Given the description of an element on the screen output the (x, y) to click on. 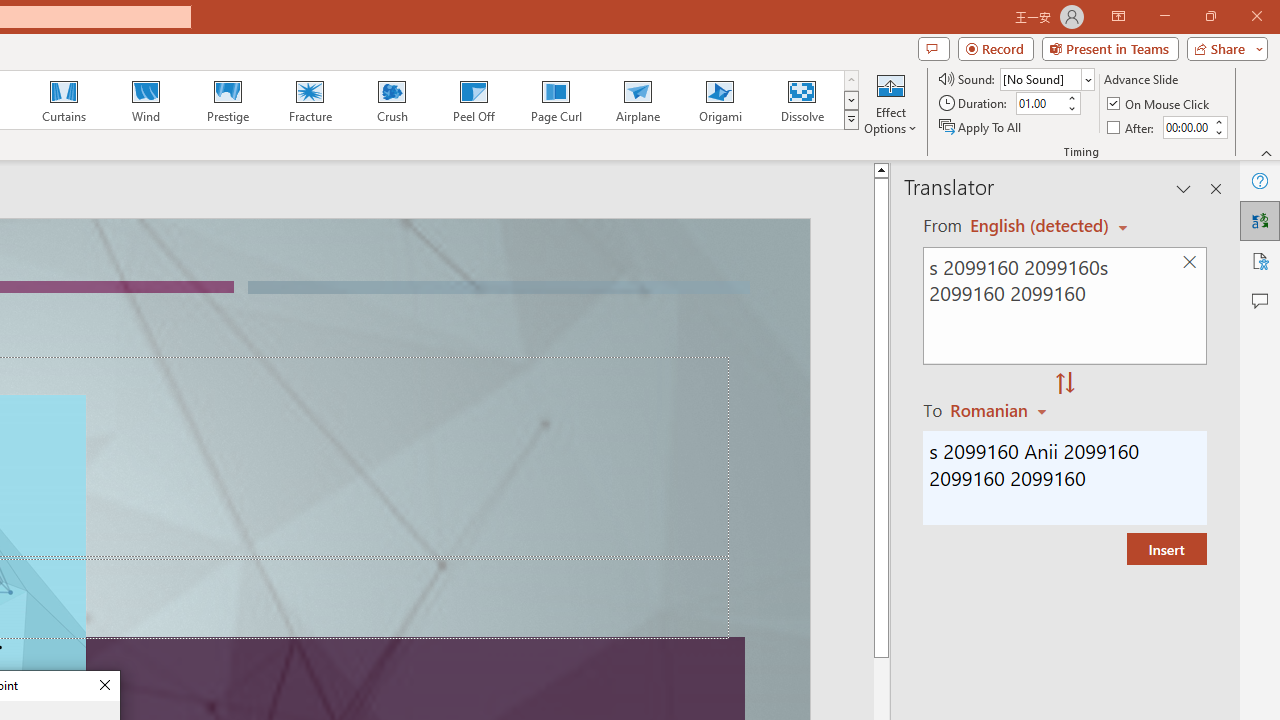
On Mouse Click (1159, 103)
Clear text (1189, 262)
Romanian (1001, 409)
Fracture (309, 100)
Czech (detected) (1039, 225)
After (1131, 126)
Swap "from" and "to" languages. (1065, 383)
